Given the description of an element on the screen output the (x, y) to click on. 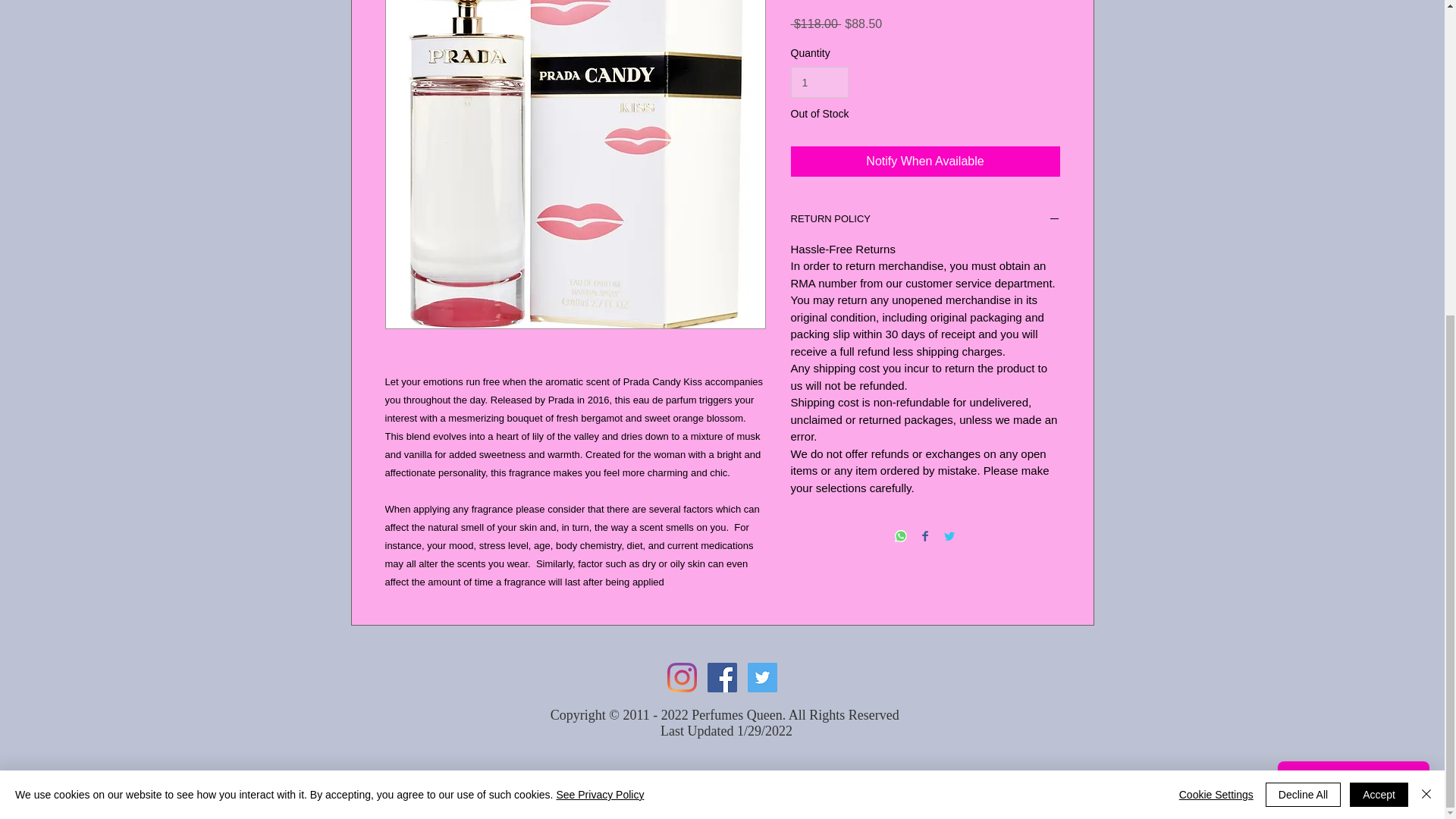
Notify When Available (924, 161)
RETURN POLICY (924, 220)
Accept (1378, 288)
Decline All (1302, 288)
1 (818, 81)
See Privacy Policy (599, 288)
